Given the description of an element on the screen output the (x, y) to click on. 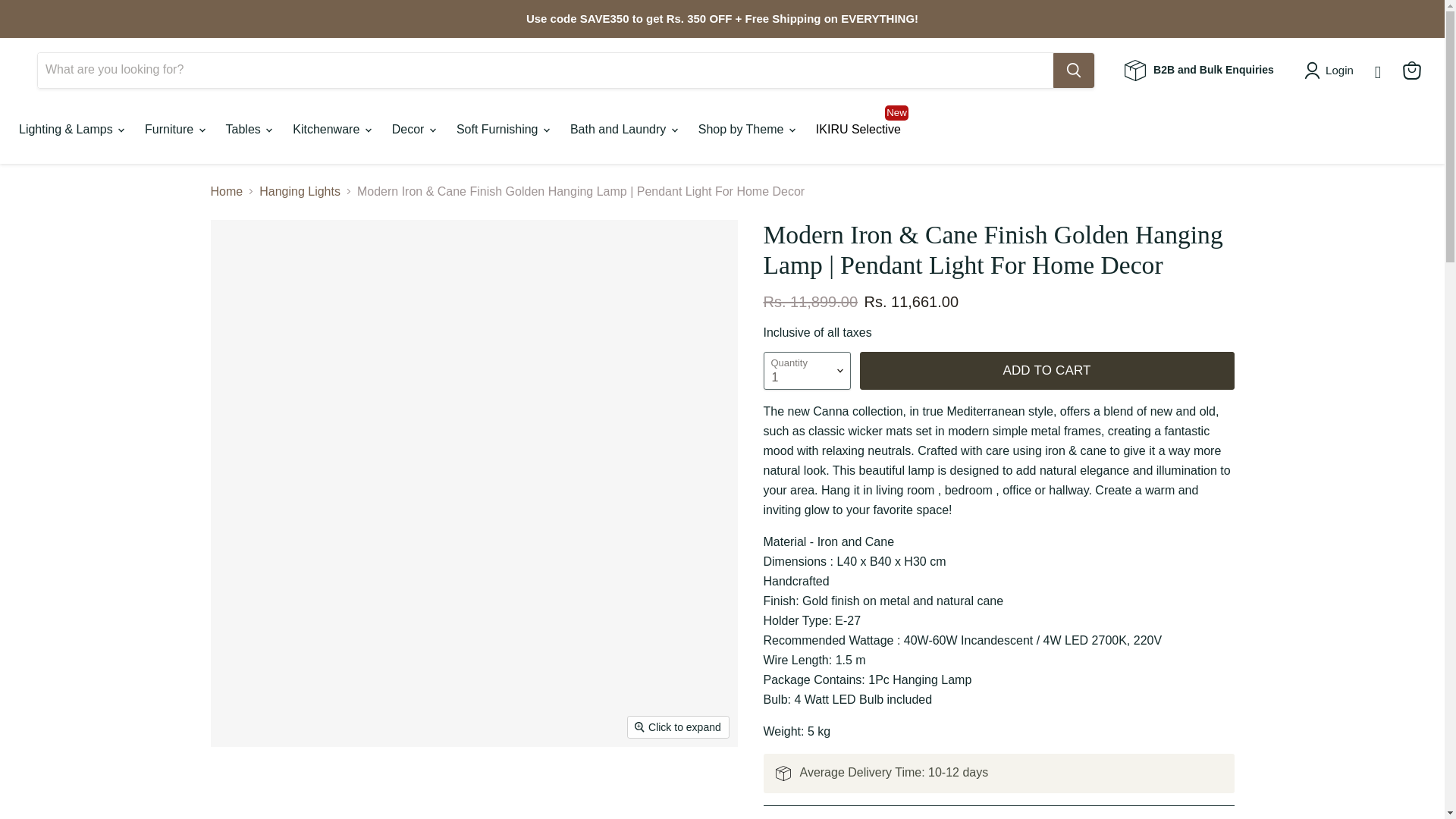
View cart (1411, 69)
Login (1339, 70)
B2B and Bulk Enquiries (1199, 69)
